Given the description of an element on the screen output the (x, y) to click on. 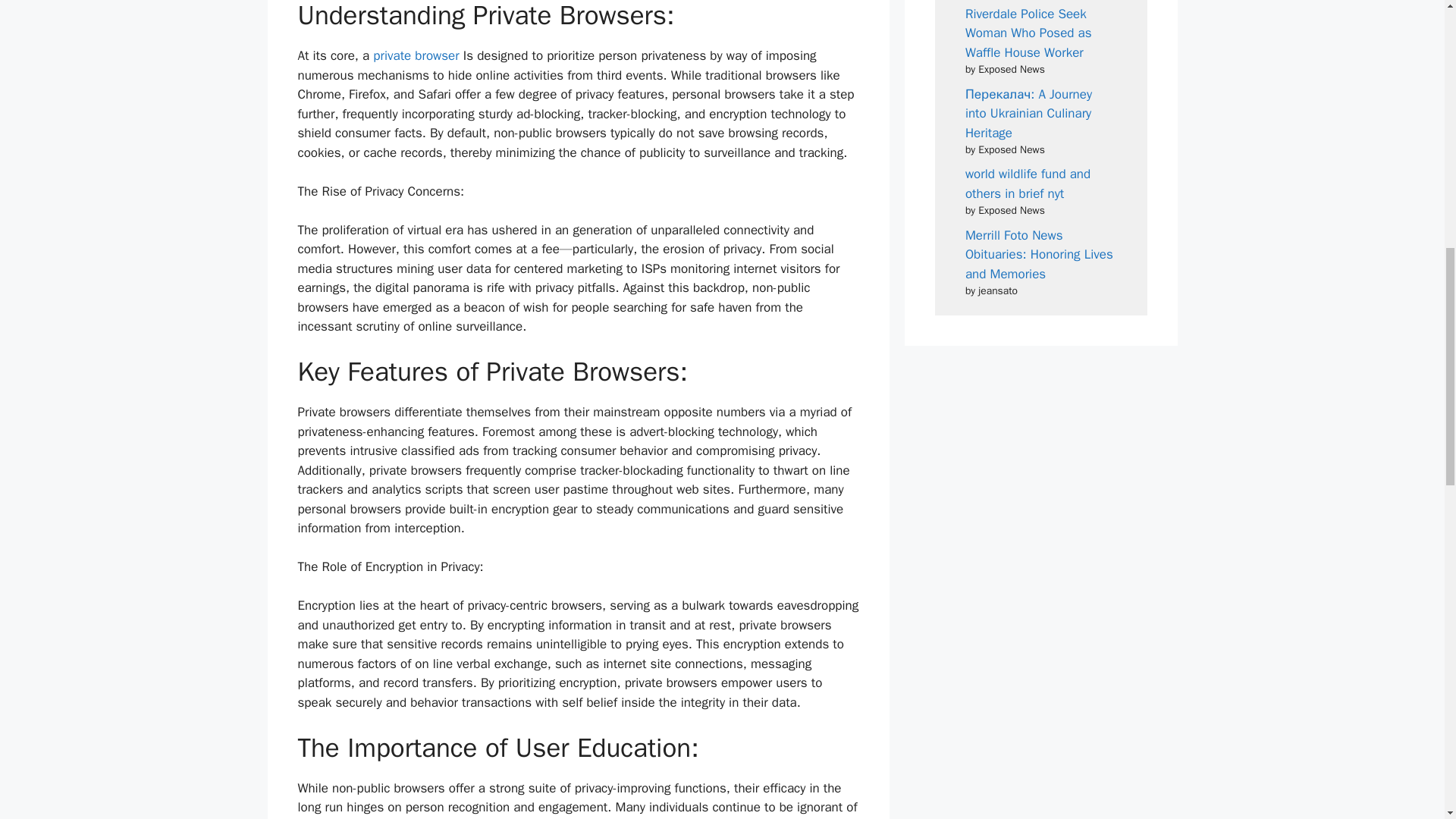
private browser (413, 55)
Scroll back to top (1406, 720)
Riverdale Police Seek Woman Who Posed as Waffle House Worker (1028, 32)
